Given the description of an element on the screen output the (x, y) to click on. 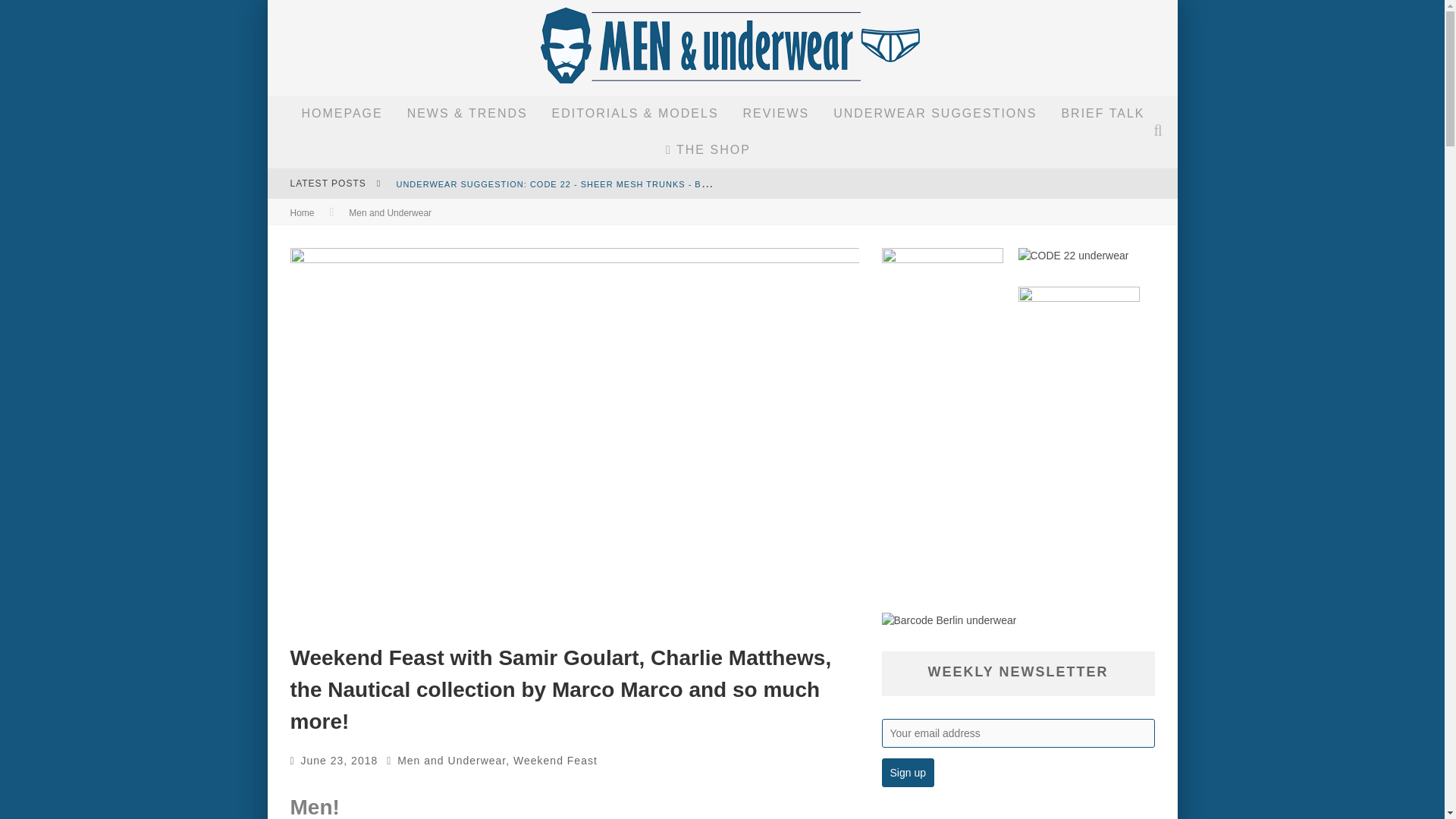
View all posts in Men and Underwear (389, 213)
HOMEPAGE (341, 113)
Underwear Suggestion: CODE 22 - Sheer Mesh Trunks - Black (560, 182)
Sign up (906, 772)
